Given the description of an element on the screen output the (x, y) to click on. 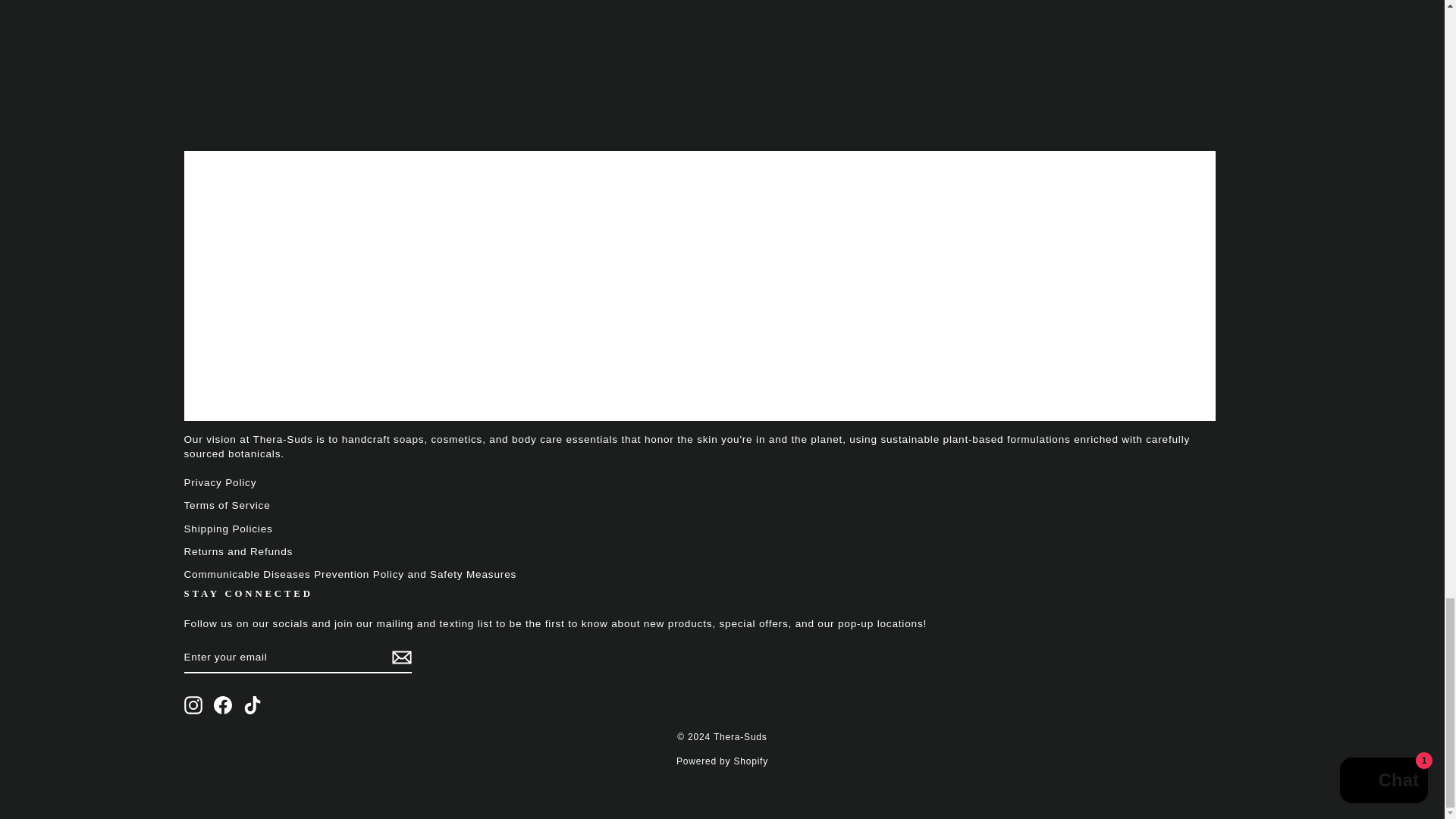
icon-email (400, 657)
Thera-Suds  on TikTok (251, 705)
instagram (192, 705)
Thera-Suds  on Facebook (222, 705)
Thera-Suds  on Instagram (192, 705)
